Given the description of an element on the screen output the (x, y) to click on. 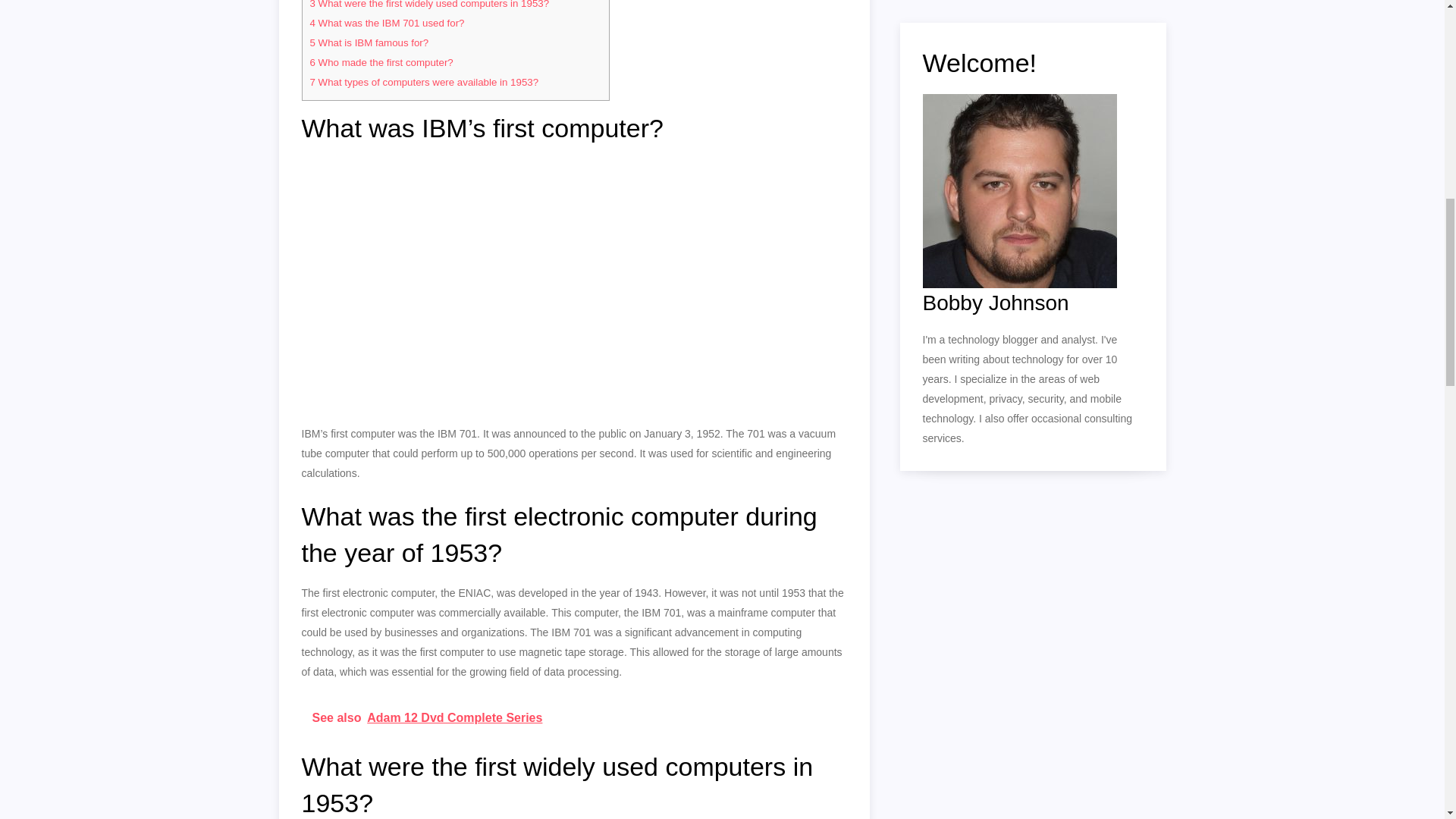
7 What types of computers were available in 1953? (423, 81)
See also  Adam 12 Dvd Complete Series (574, 717)
4 What was the IBM 701 used for? (386, 22)
6 Who made the first computer? (380, 61)
5 What is IBM famous for? (368, 42)
3 What were the first widely used computers in 1953? (428, 4)
